Given the description of an element on the screen output the (x, y) to click on. 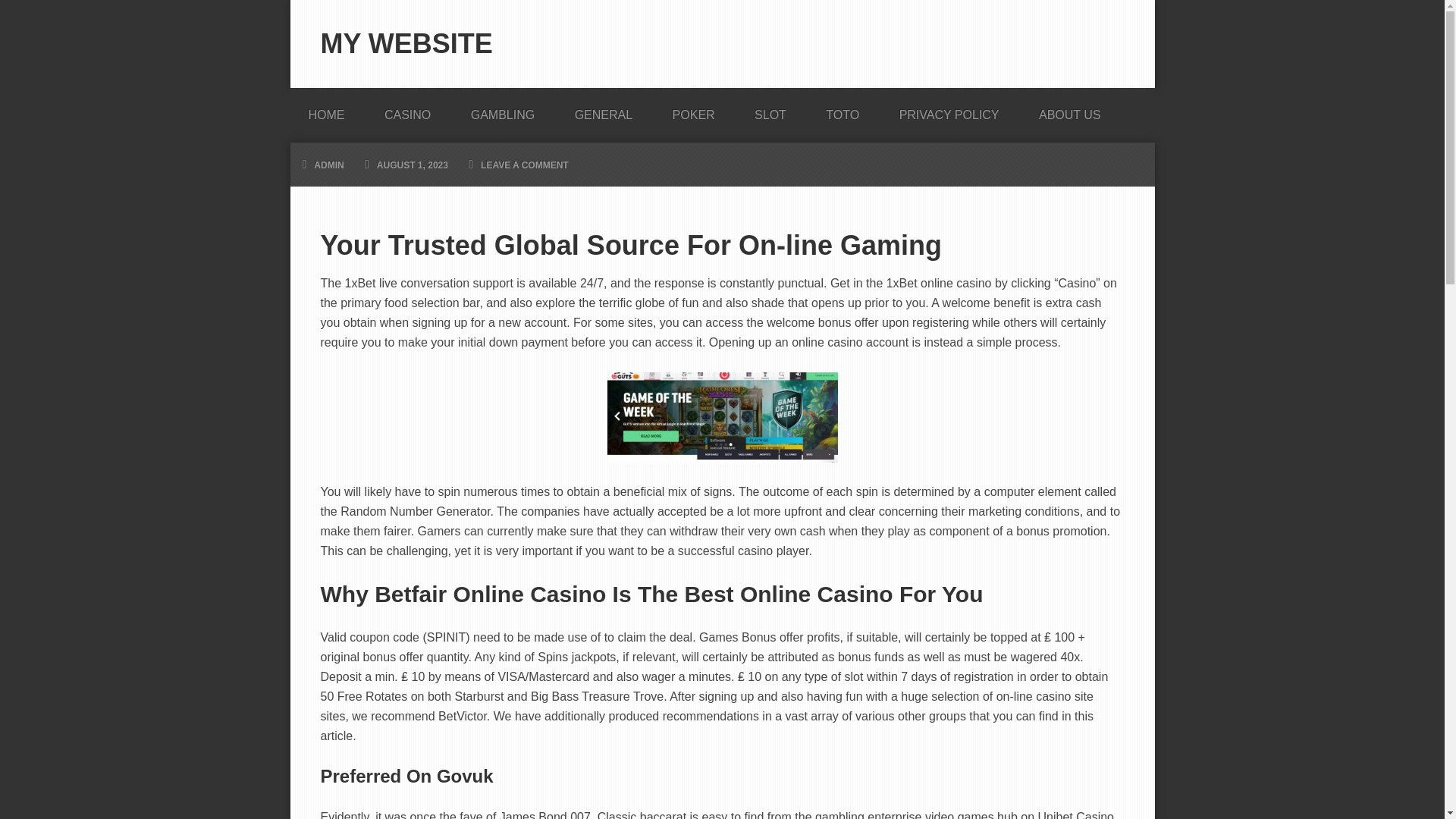
ADMIN (328, 164)
PRIVACY POLICY (948, 110)
HOME (325, 110)
SLOT (770, 110)
POKER (693, 110)
GAMBLING (502, 110)
TOTO (842, 110)
ABOUT US (1069, 110)
CASINO (407, 110)
GENERAL (603, 110)
LEAVE A COMMENT (524, 164)
MY WEBSITE (406, 42)
